Given the description of an element on the screen output the (x, y) to click on. 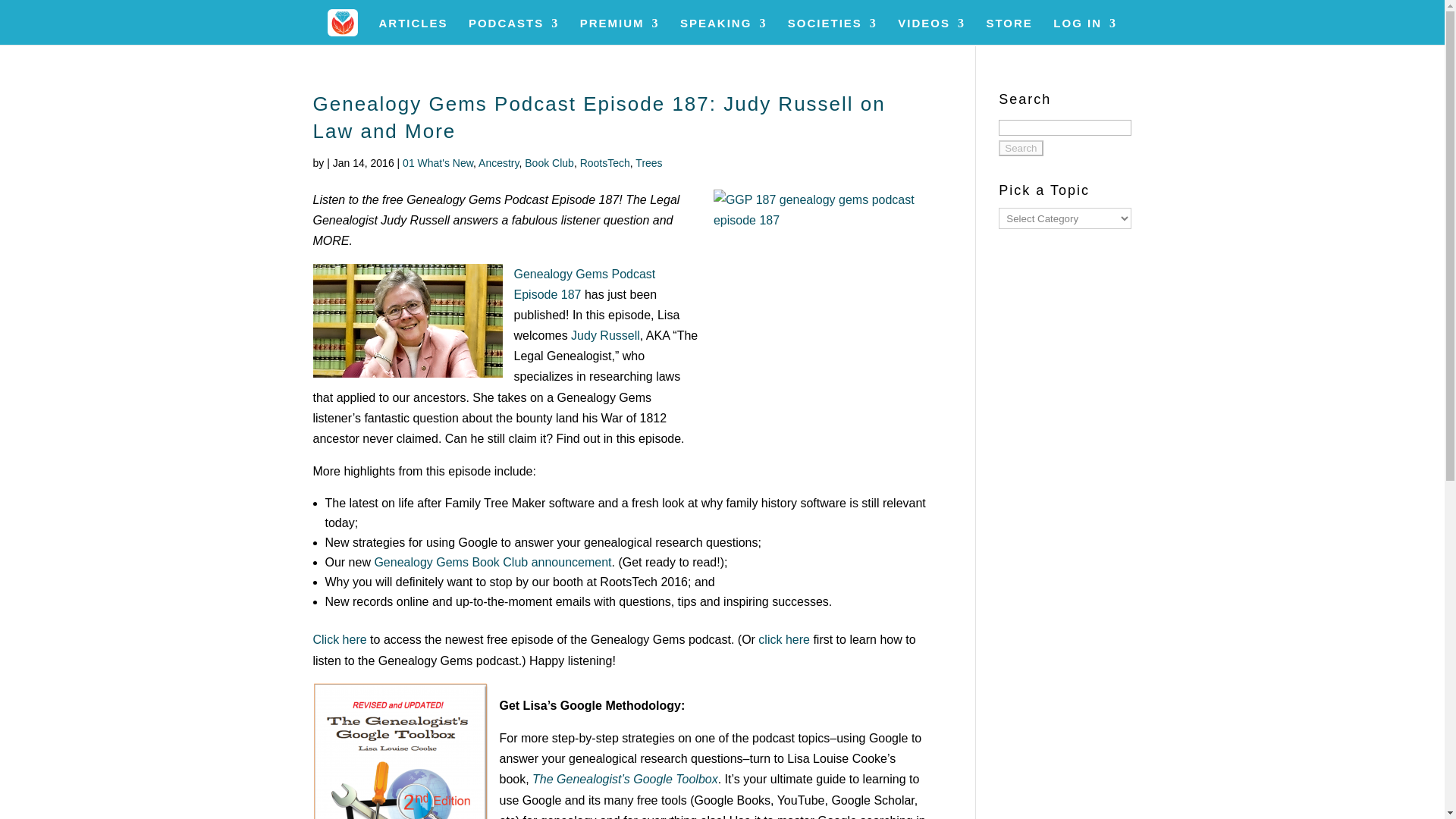
STORE (1008, 31)
PREMIUM (619, 31)
LOG IN (1084, 31)
Login (1115, 250)
VIDEOS (931, 31)
ARTICLES (412, 31)
Search (1020, 148)
SPEAKING (723, 31)
PODCASTS (513, 31)
Watch free genealogy videos (931, 31)
SOCIETIES (832, 31)
